Given the description of an element on the screen output the (x, y) to click on. 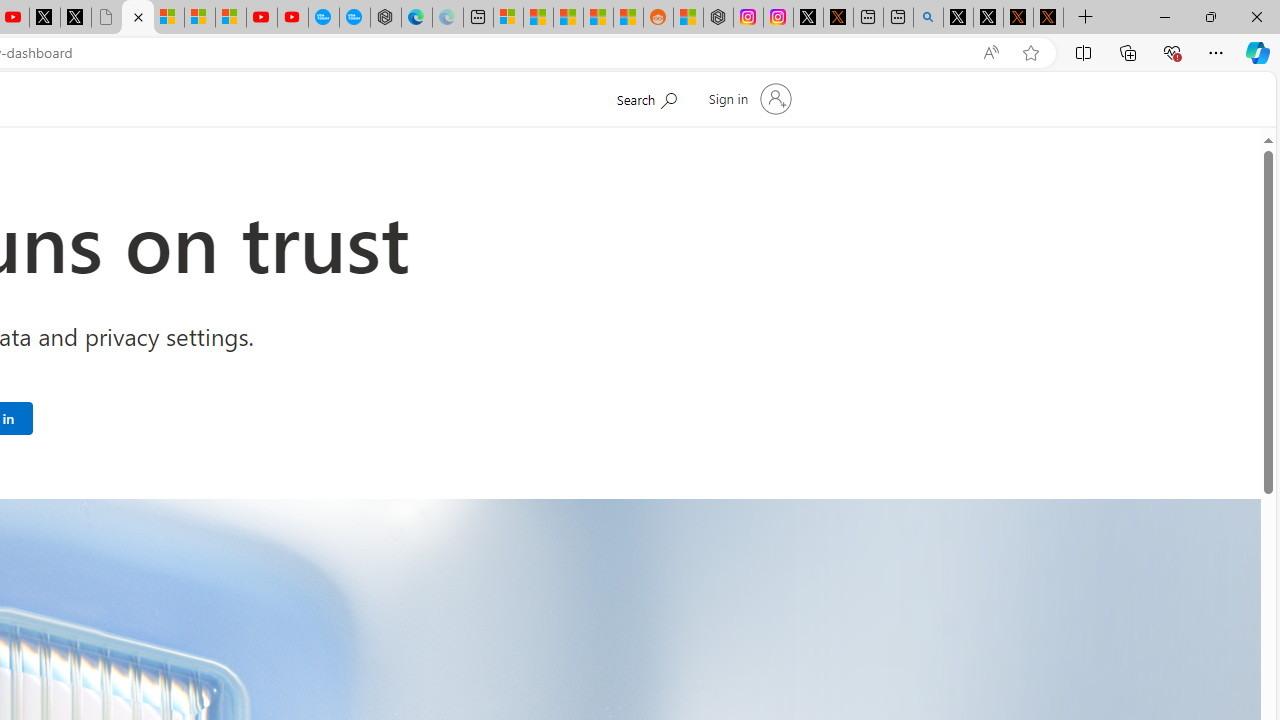
Sign in to your account (748, 98)
help.x.com | 524: A timeout occurred (838, 17)
The most popular Google 'how to' searches (354, 17)
Profile / X (957, 17)
